Given the description of an element on the screen output the (x, y) to click on. 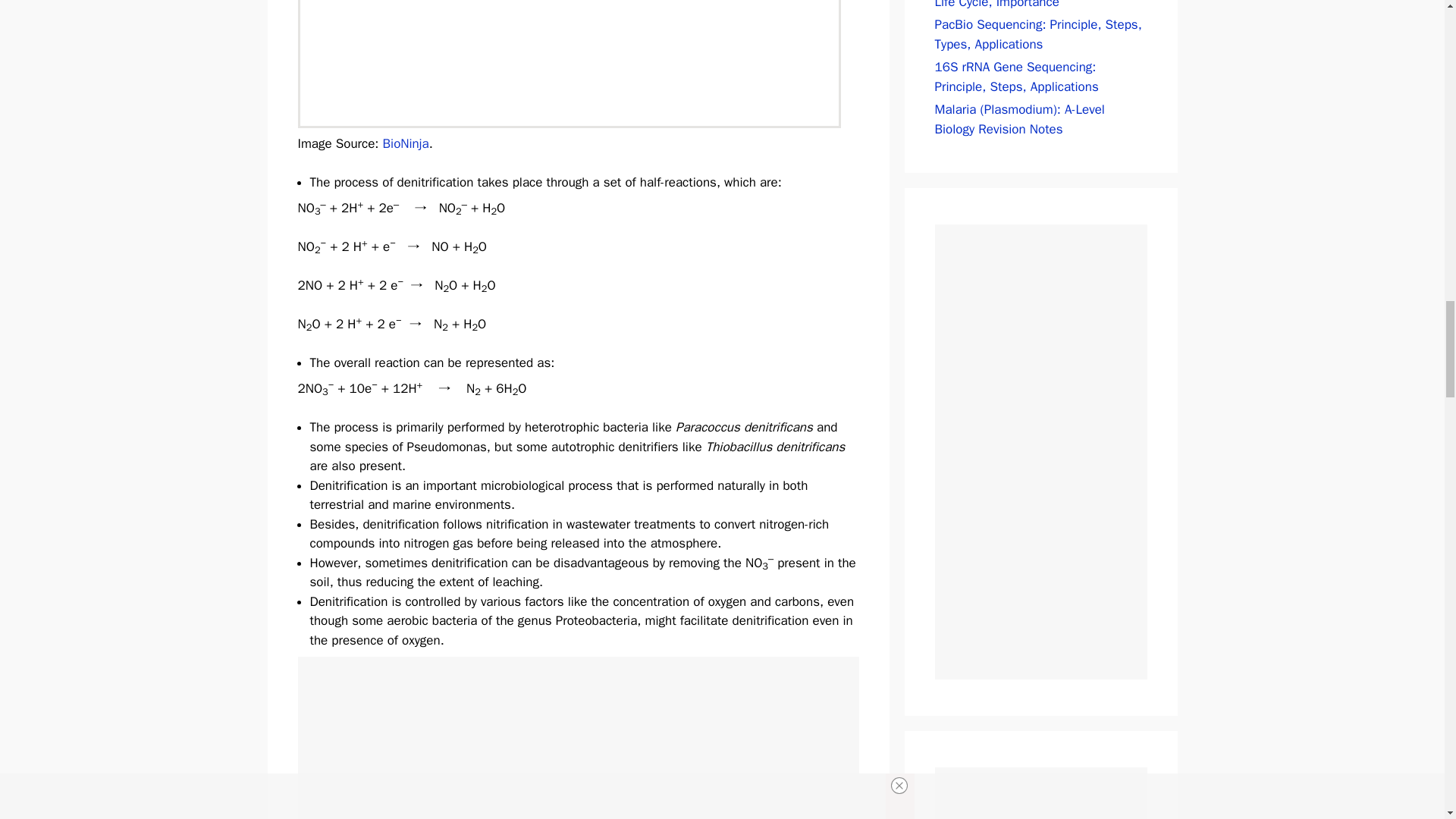
3rd party ad content (1040, 793)
BioNinja (405, 143)
3rd party ad content (1040, 444)
